Given the description of an element on the screen output the (x, y) to click on. 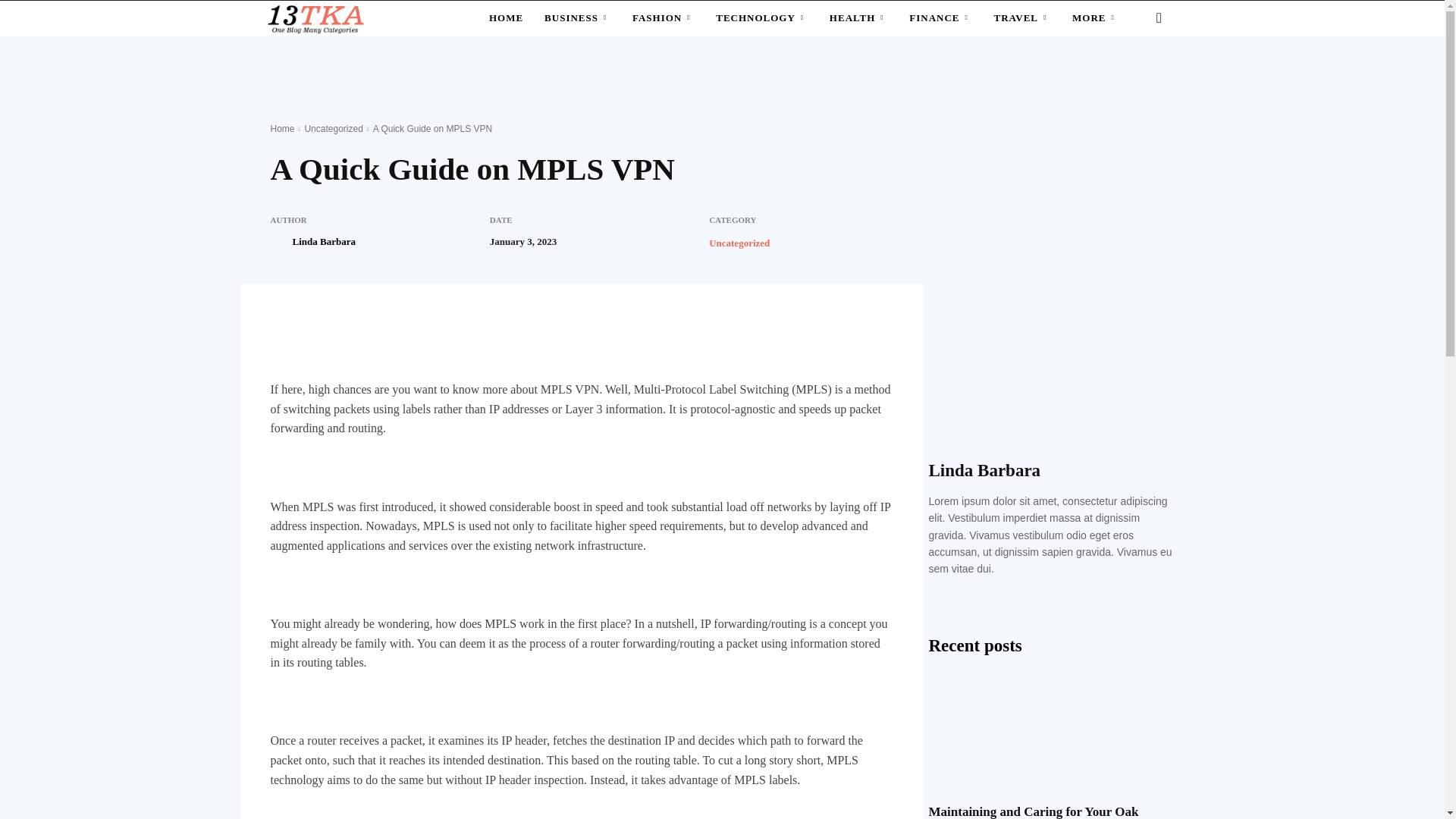
13TKA (314, 18)
BUSINESS (577, 18)
HOME (506, 18)
Search (1134, 78)
